Given the description of an element on the screen output the (x, y) to click on. 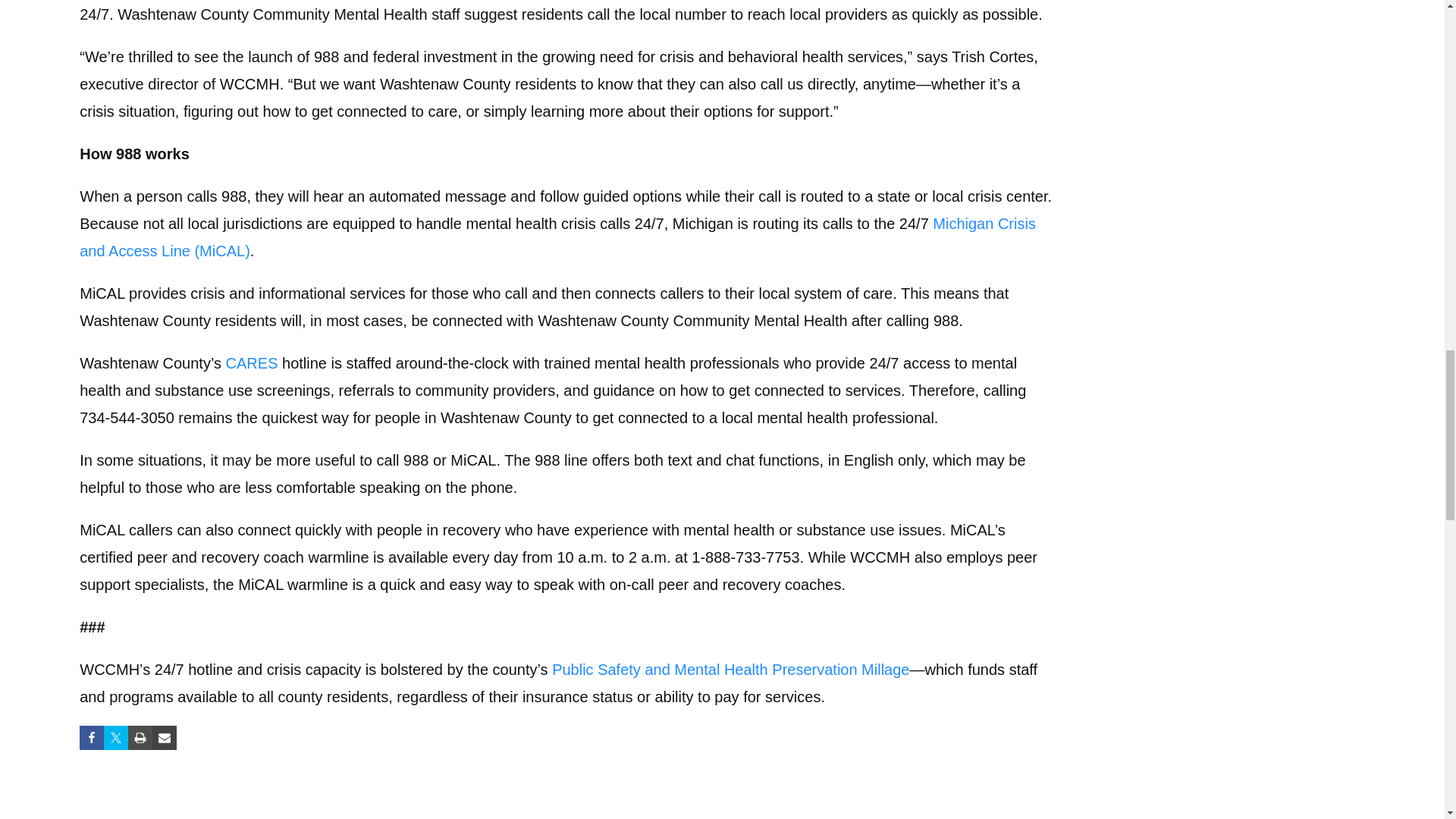
Share on Facebook (91, 737)
Print this Page (140, 737)
Public Safety and Mental Health Preservation Millage (729, 669)
Share on Twitter (115, 737)
CARES (251, 362)
Share via Email (164, 737)
